Given the description of an element on the screen output the (x, y) to click on. 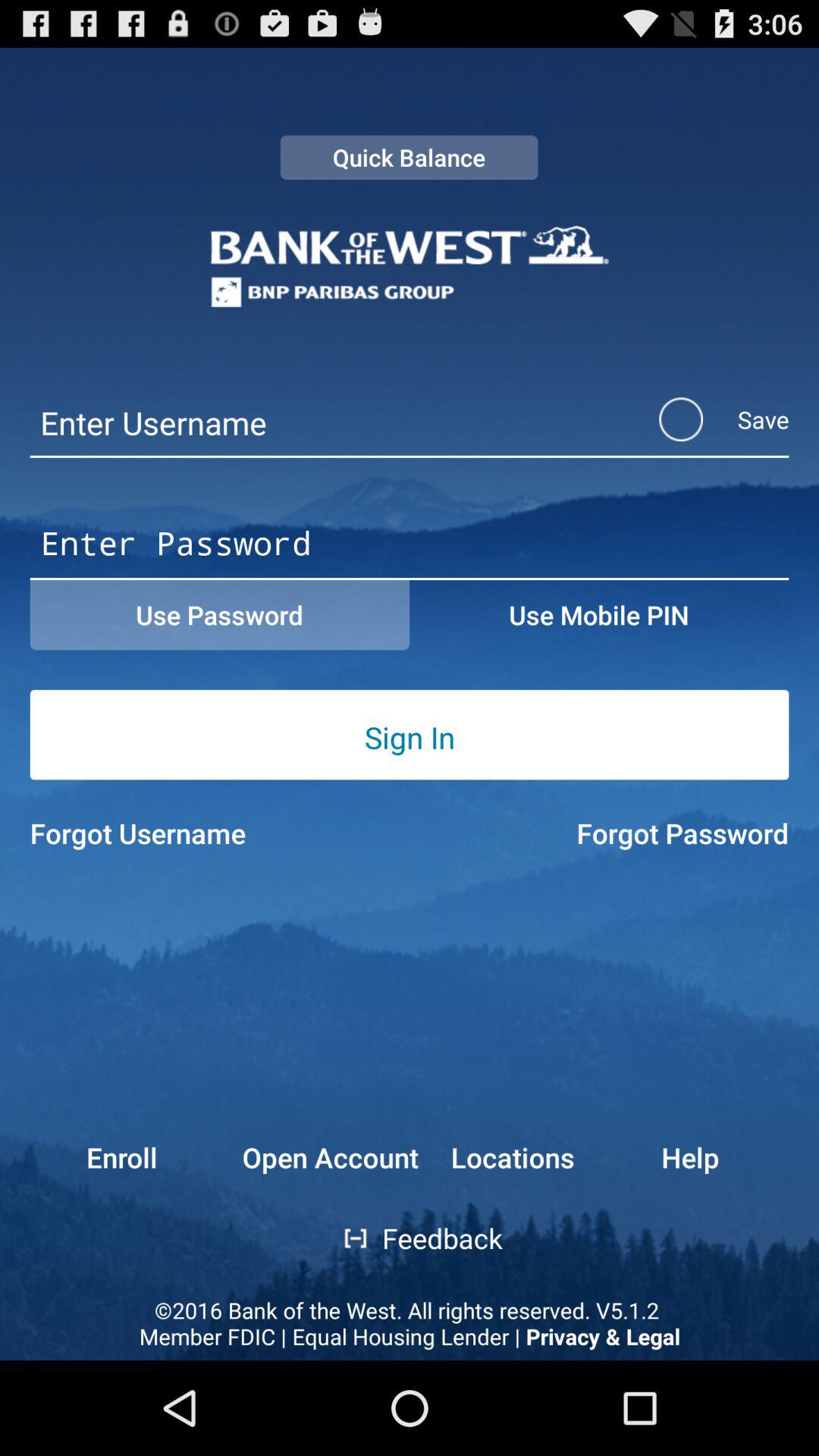
press the icon to the left of the feedback (345, 1238)
